Given the description of an element on the screen output the (x, y) to click on. 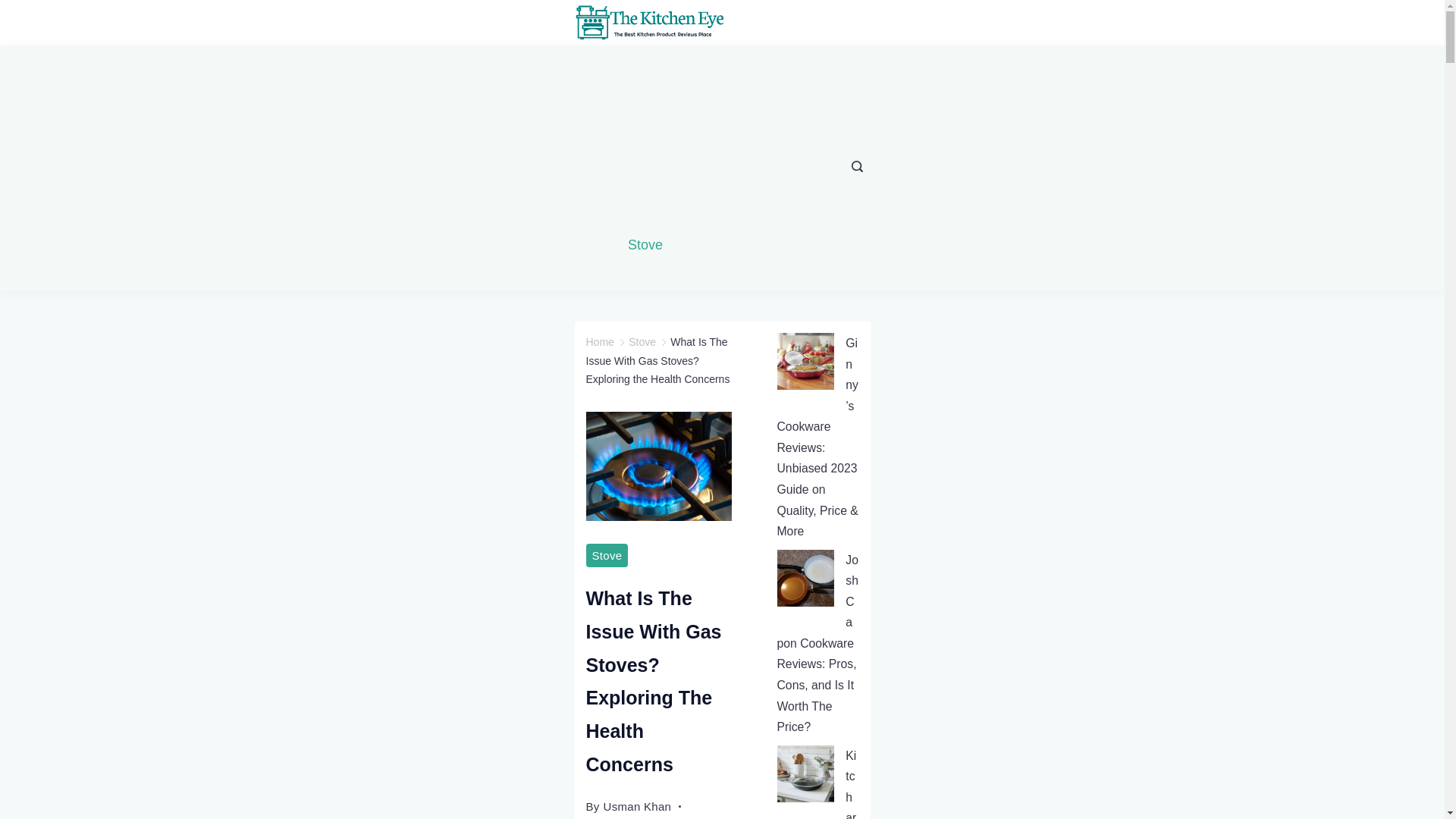
Stand Mixer (663, 214)
Blender (650, 183)
Home (598, 341)
Usman Khan (637, 805)
Stove (642, 341)
Cooktops (738, 60)
Ranges (633, 60)
